Given the description of an element on the screen output the (x, y) to click on. 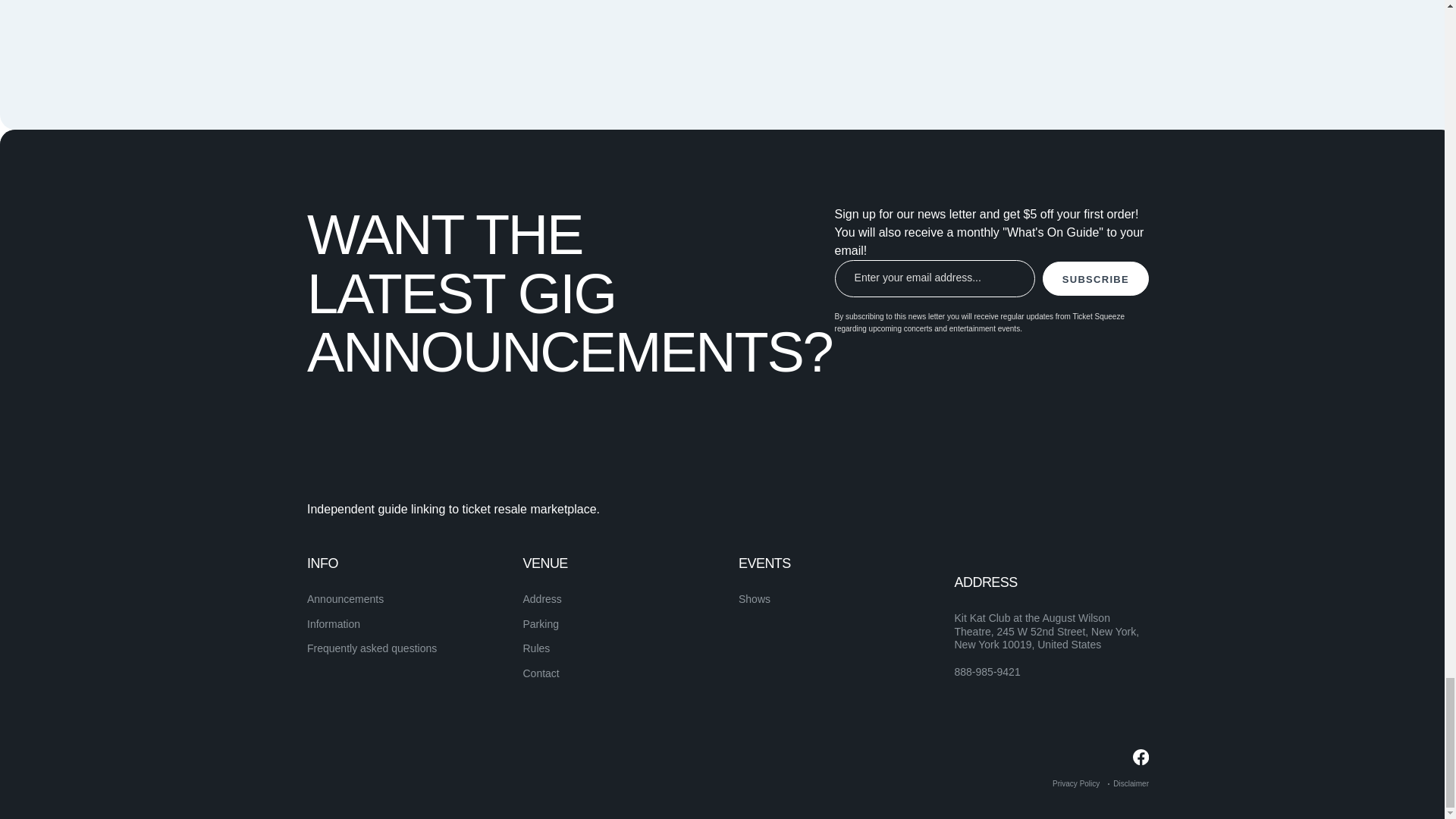
Frequently asked questions (371, 648)
Rules (536, 648)
Parking (540, 623)
Contact (540, 673)
Announcements (345, 598)
Address (542, 598)
Privacy Policy (1075, 783)
Shows (754, 598)
888-985-9421 (986, 672)
SUBSCRIBE (1095, 278)
